Given the description of an element on the screen output the (x, y) to click on. 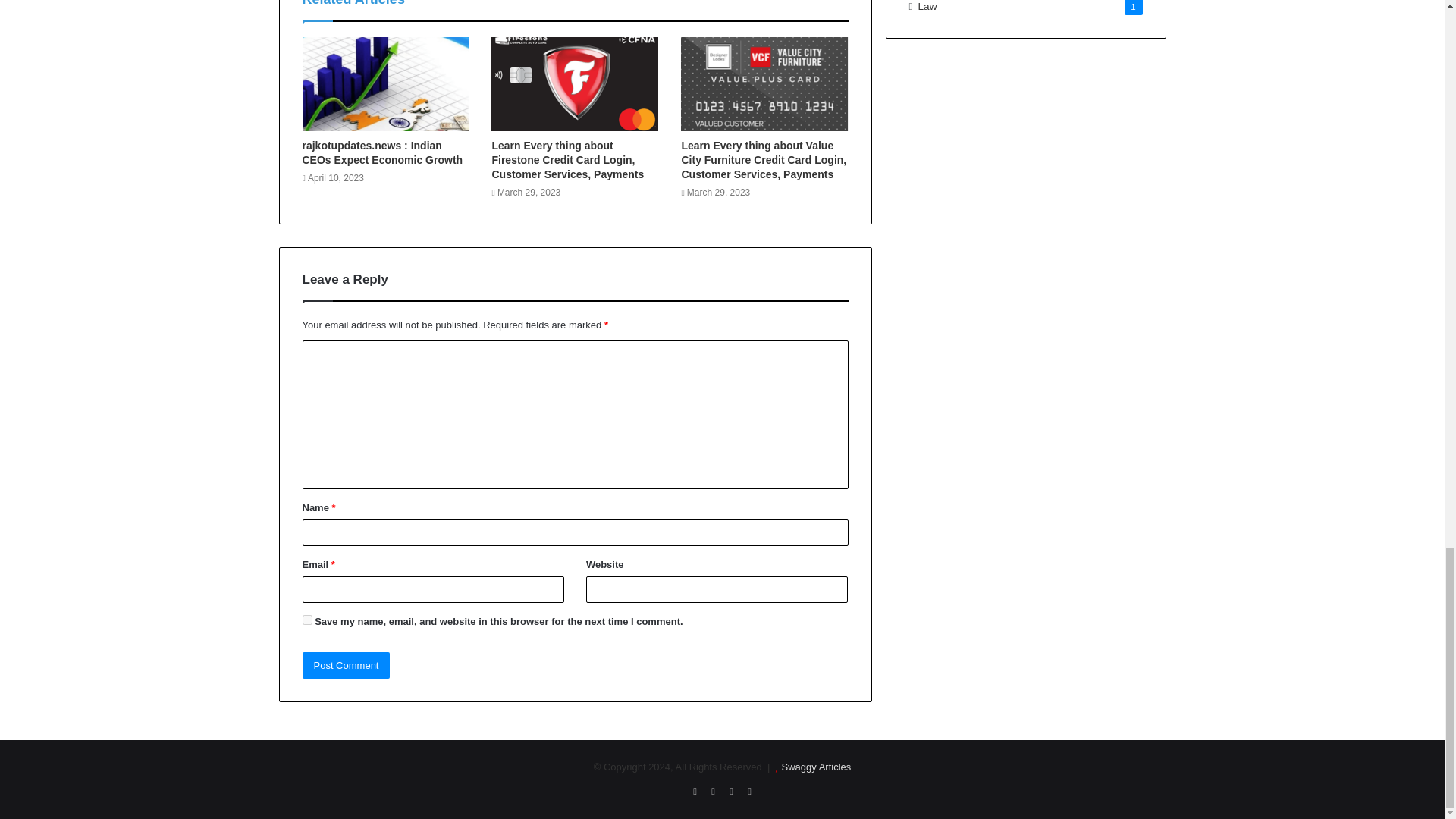
yes (306, 619)
Post Comment (345, 664)
